Given the description of an element on the screen output the (x, y) to click on. 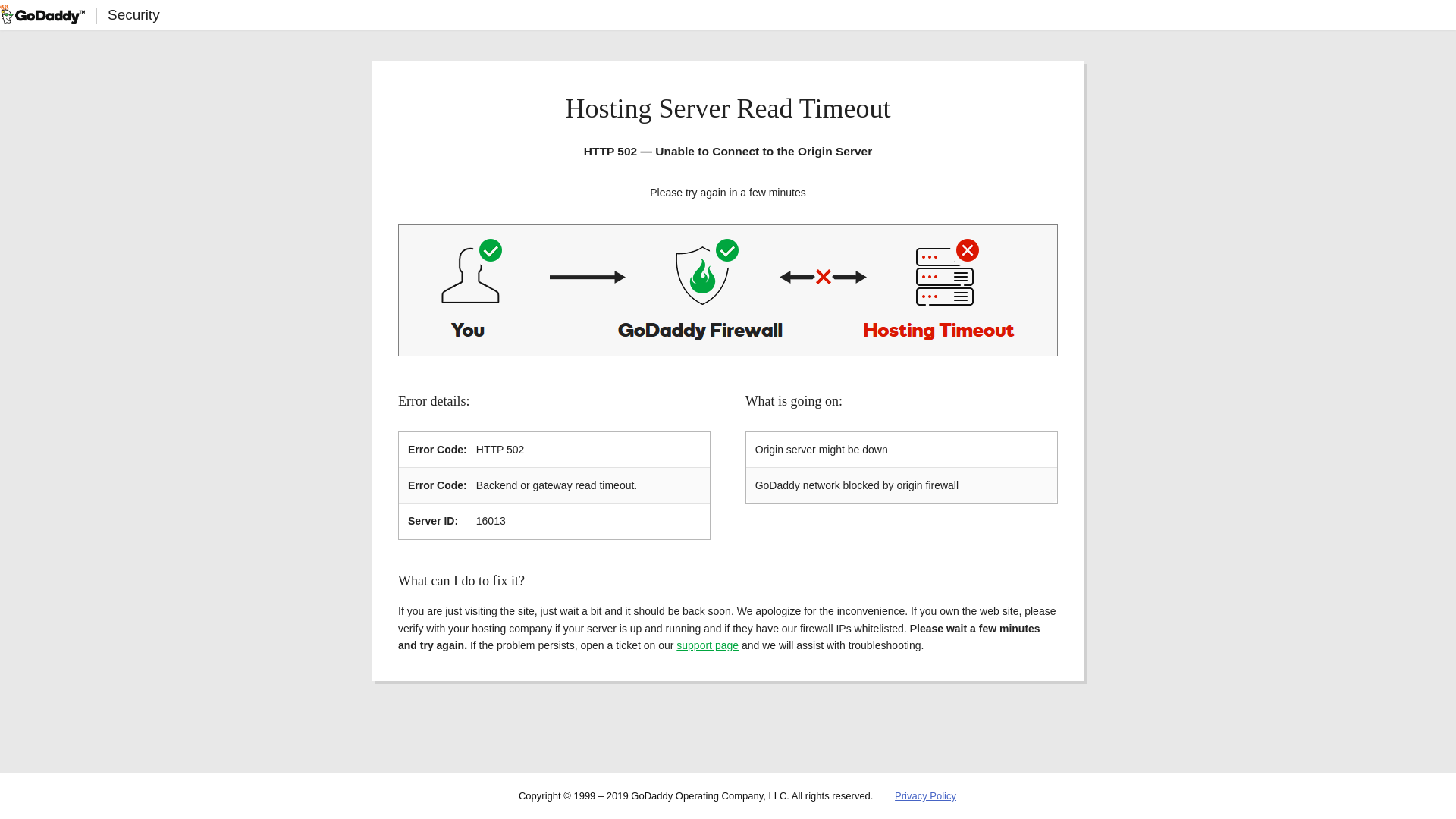
Privacy Policy (925, 795)
support page (707, 645)
